Given the description of an element on the screen output the (x, y) to click on. 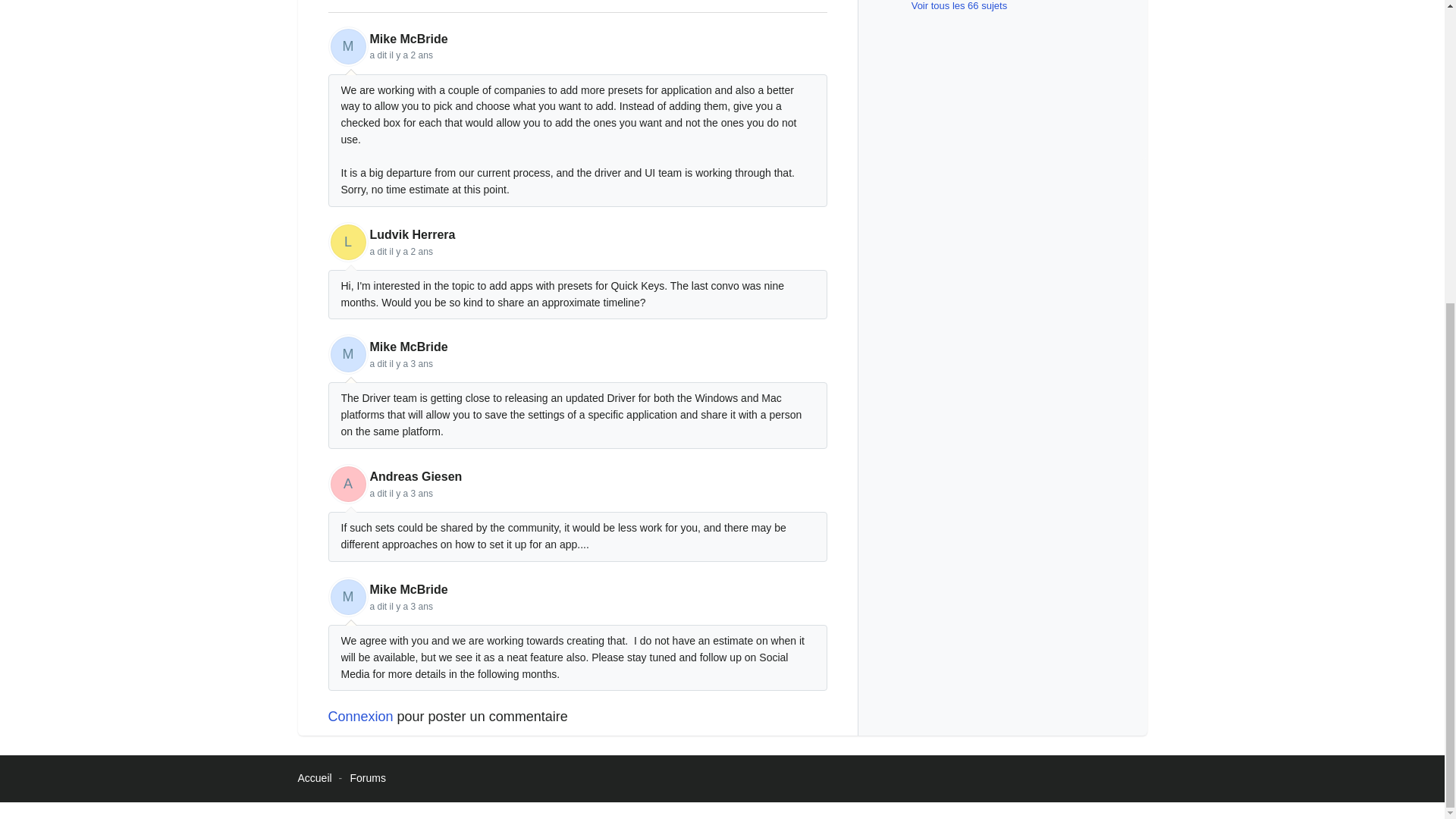
Accueil (314, 777)
Connexion (360, 716)
Forums (367, 777)
Voir tous les 66 sujets (947, 5)
Voir tous les 66 sujets (947, 5)
